Given the description of an element on the screen output the (x, y) to click on. 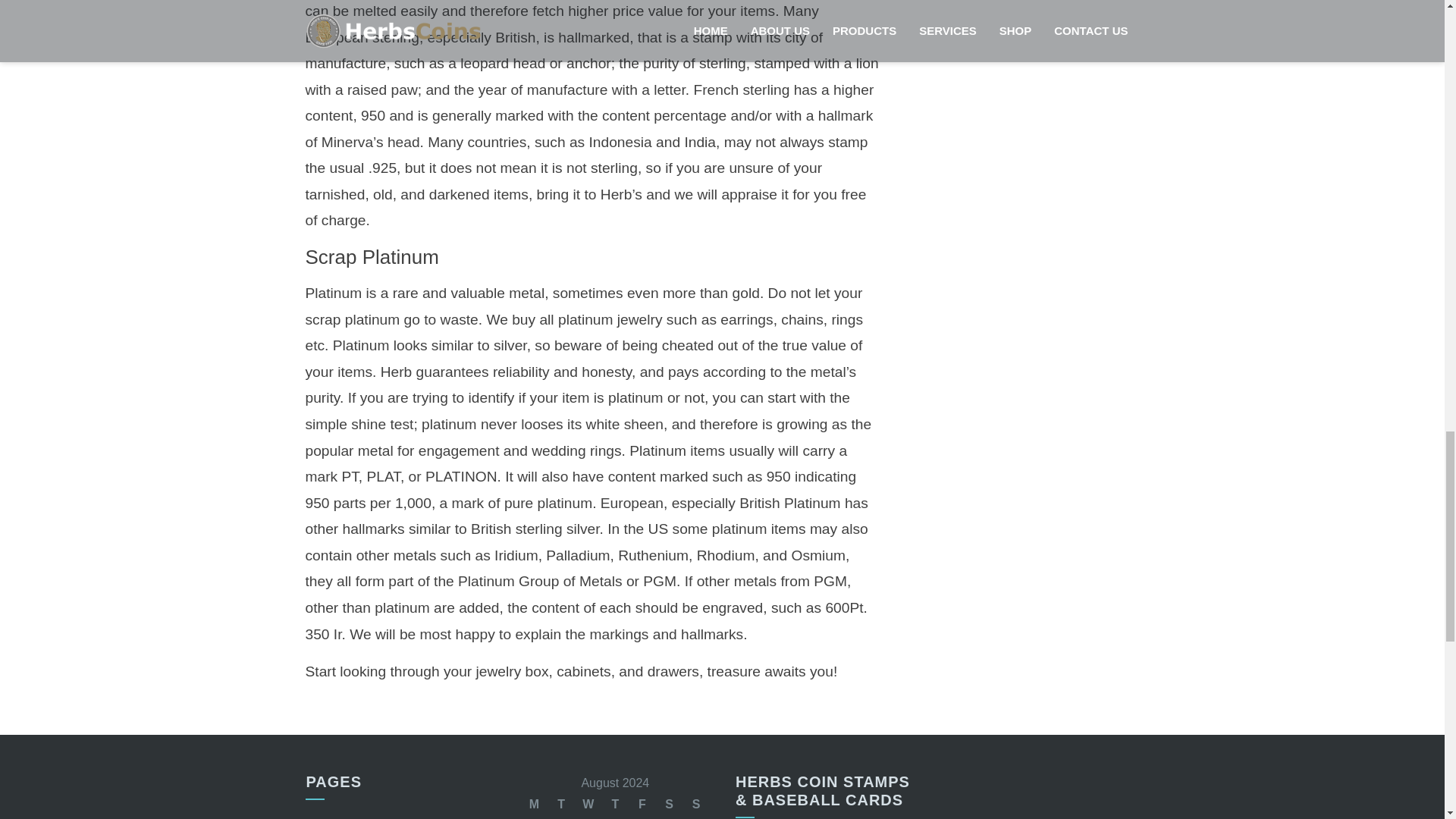
Wednesday (588, 804)
Sunday (696, 804)
Tuesday (561, 804)
Friday (642, 804)
Saturday (669, 804)
Thursday (615, 804)
Monday (534, 804)
